Given the description of an element on the screen output the (x, y) to click on. 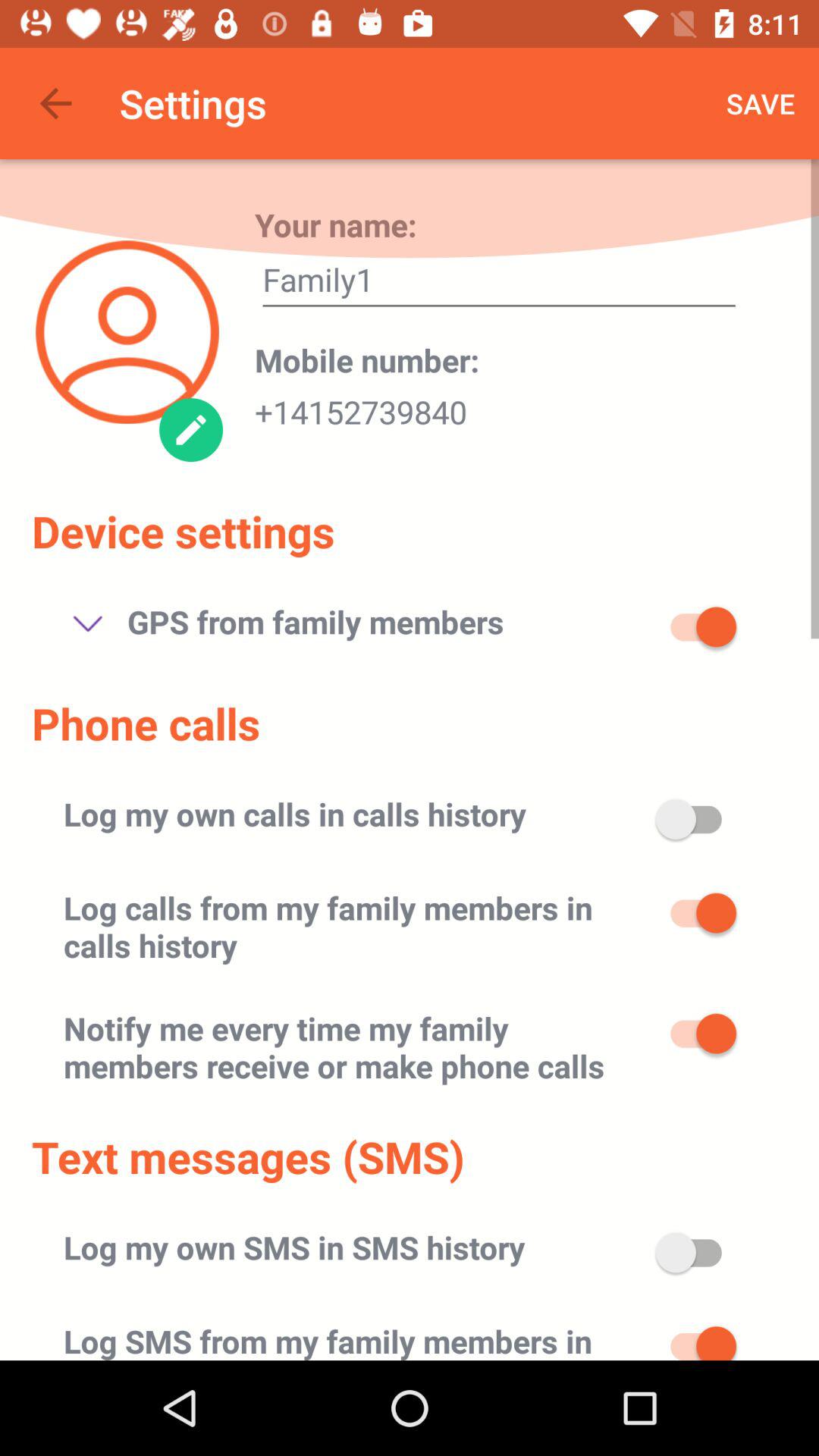
choose the device settings item (182, 530)
